Given the description of an element on the screen output the (x, y) to click on. 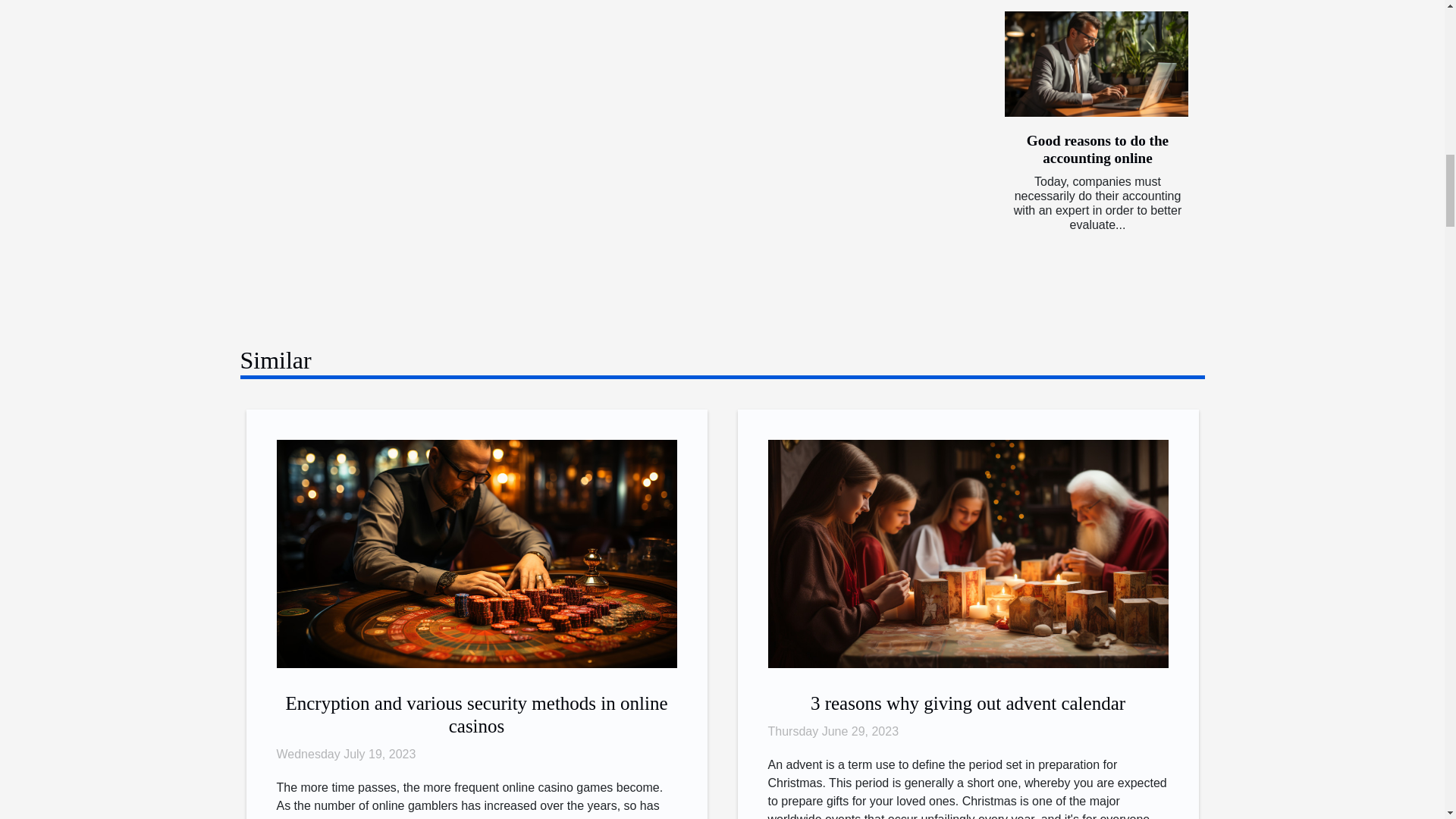
Good reasons to do the accounting online (1097, 149)
Good reasons to do the accounting online (1096, 64)
3 reasons why giving out advent calendar (967, 702)
Good reasons to do the accounting online (1097, 149)
Encryption and various security methods in online casinos (476, 553)
Encryption and various security methods in online casinos (475, 714)
3 reasons why giving out advent calendar (967, 553)
Encryption and various security methods in online casinos (475, 714)
3 reasons why giving out advent calendar (967, 702)
